Given the description of an element on the screen output the (x, y) to click on. 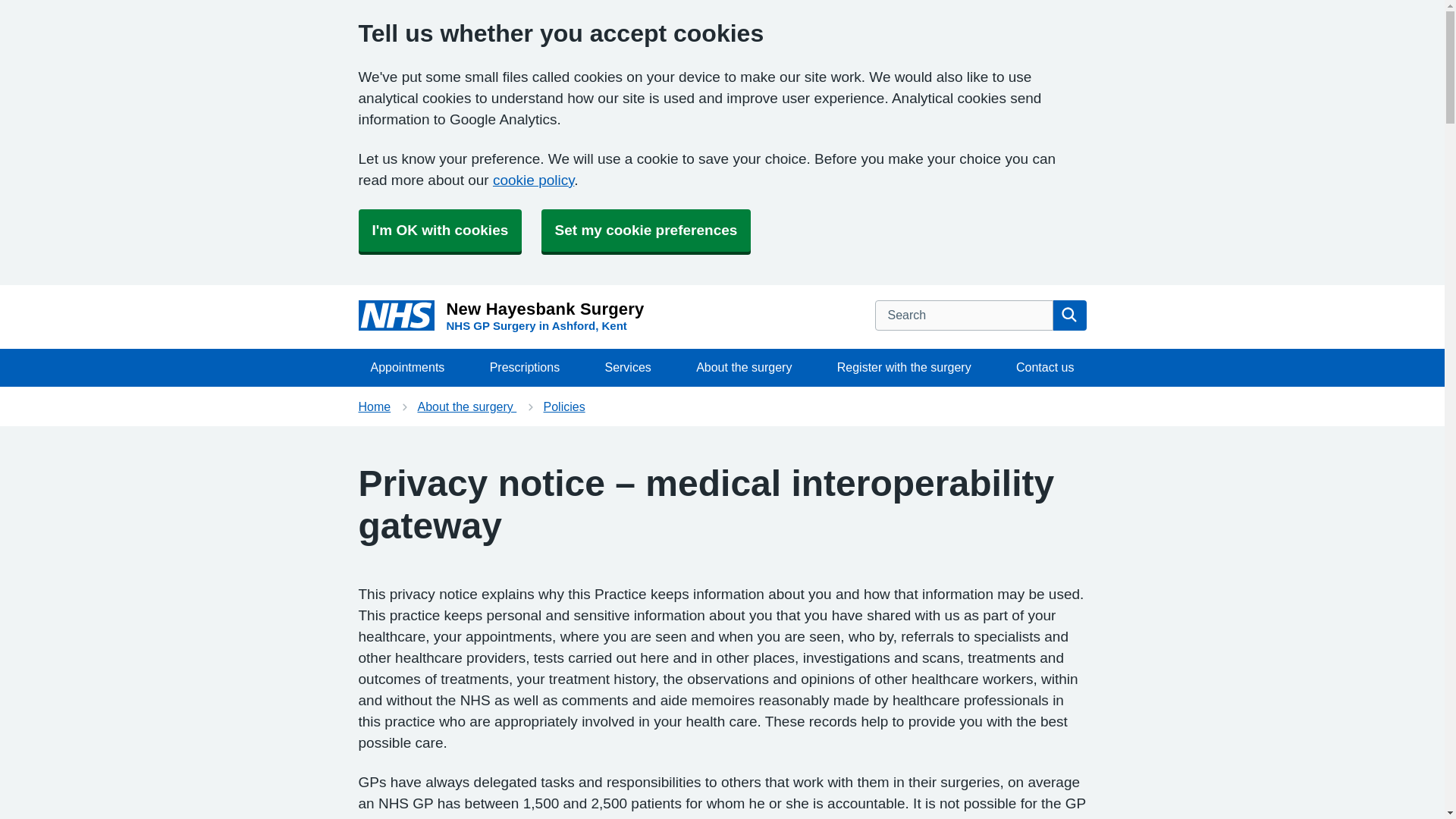
Set my cookie preferences (646, 230)
cookie policy (533, 179)
About the surgery (466, 406)
Prescriptions (524, 367)
Services (627, 367)
I'm OK with cookies (439, 230)
Register with the surgery (904, 367)
Home (500, 316)
About the surgery (374, 406)
